Given the description of an element on the screen output the (x, y) to click on. 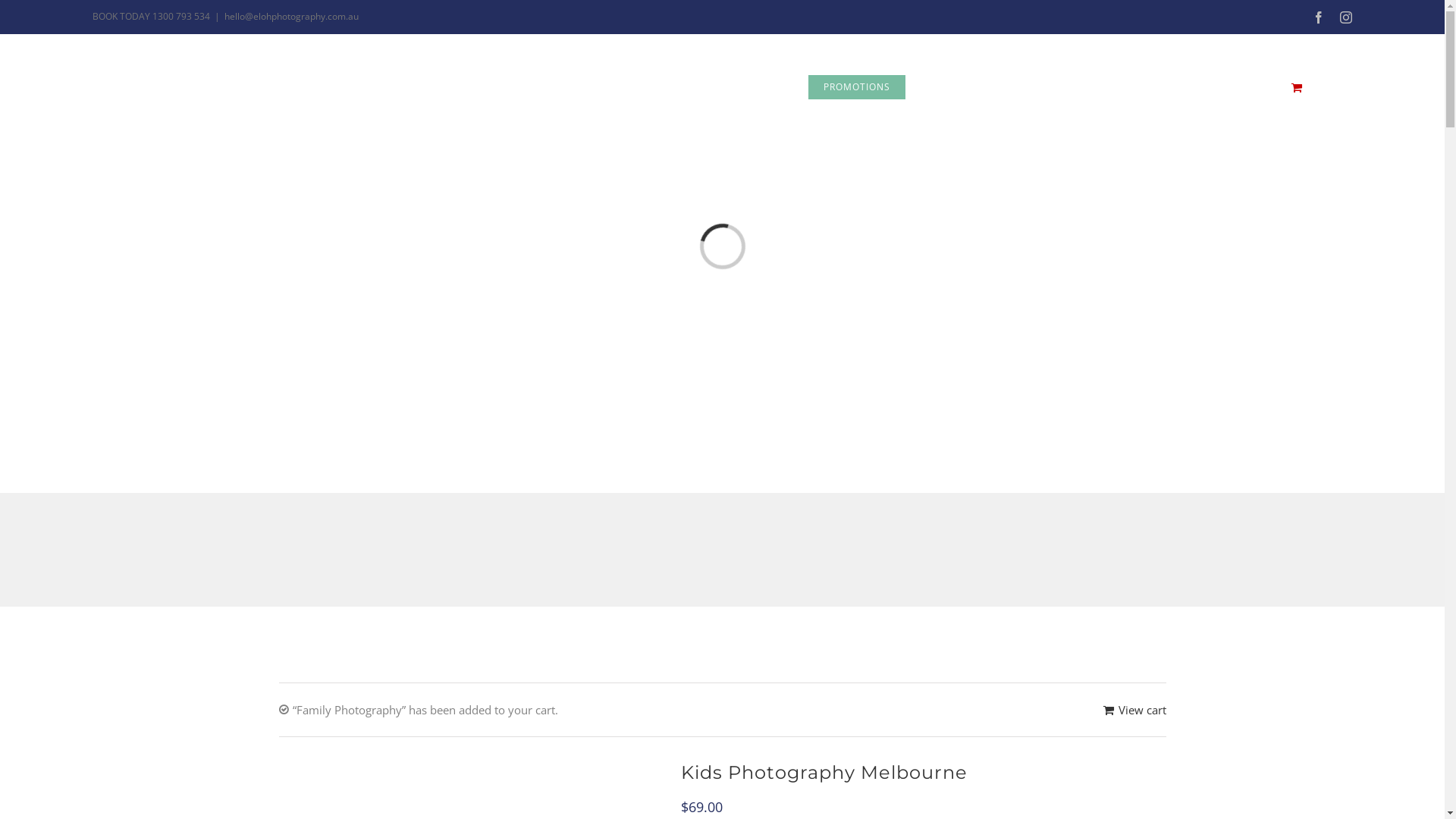
EXPERIENCES Element type: text (664, 86)
GALLERY Element type: text (759, 86)
hello@elohphotography.com.au Element type: text (291, 15)
View cart Element type: text (1133, 709)
PRODUCTS Element type: text (960, 86)
Search Element type: hover (1327, 86)
LOCATION PHOTOGRAPHY Element type: text (1184, 86)
Instagram Element type: text (1345, 17)
HOME Element type: text (580, 86)
Facebook Element type: text (1318, 17)
CONTACT Element type: text (1047, 86)
PROMOTIONS Element type: text (856, 86)
